Given the description of an element on the screen output the (x, y) to click on. 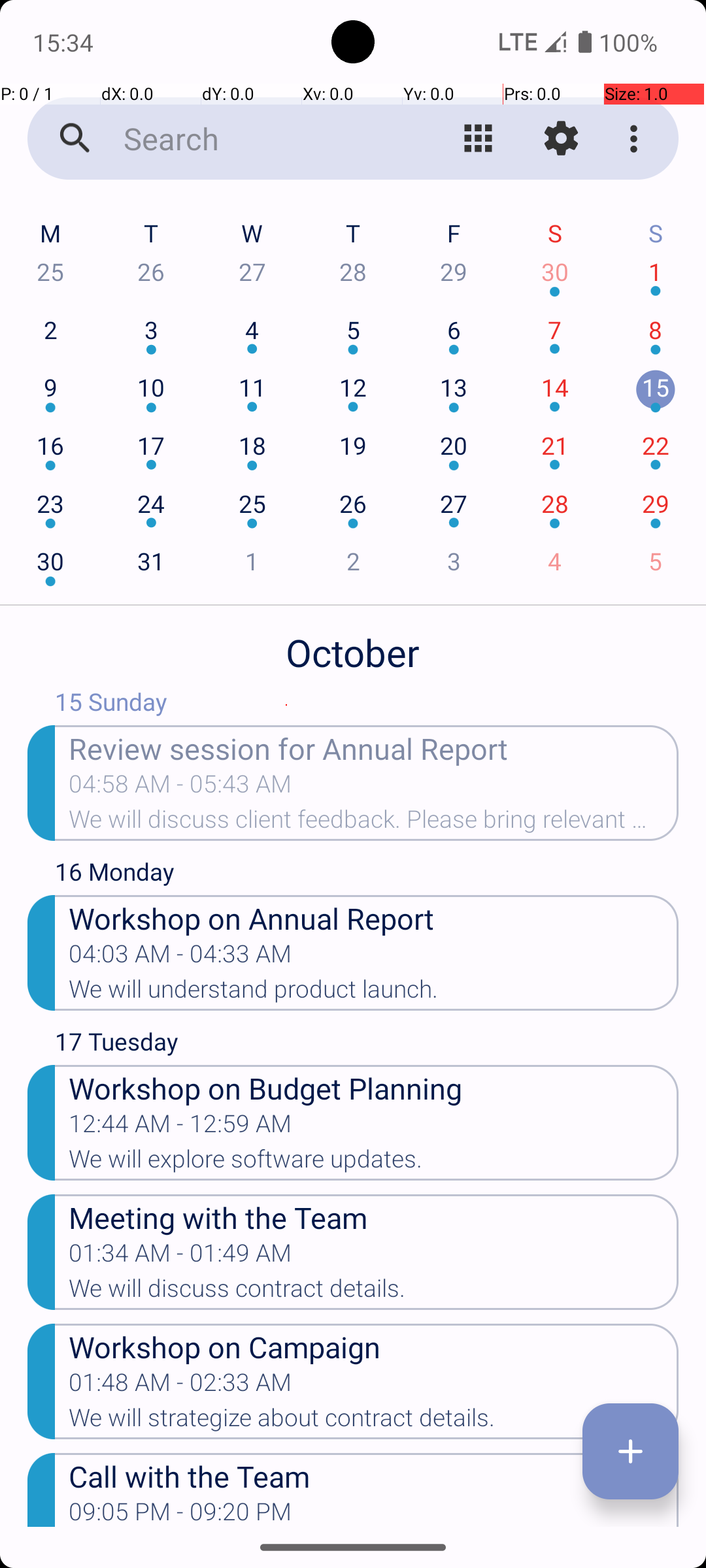
04:58 AM - 05:43 AM Element type: android.widget.TextView (179, 787)
We will discuss client feedback. Please bring relevant documents. Element type: android.widget.TextView (373, 822)
04:03 AM - 04:33 AM Element type: android.widget.TextView (179, 957)
We will understand product launch. Element type: android.widget.TextView (373, 992)
12:44 AM - 12:59 AM Element type: android.widget.TextView (179, 1127)
We will explore software updates. Element type: android.widget.TextView (373, 1162)
01:34 AM - 01:49 AM Element type: android.widget.TextView (179, 1256)
We will discuss contract details. Element type: android.widget.TextView (373, 1291)
01:48 AM - 02:33 AM Element type: android.widget.TextView (179, 1386)
We will strategize about contract details. Element type: android.widget.TextView (373, 1421)
09:05 PM - 09:20 PM Element type: android.widget.TextView (179, 1512)
